Given the description of an element on the screen output the (x, y) to click on. 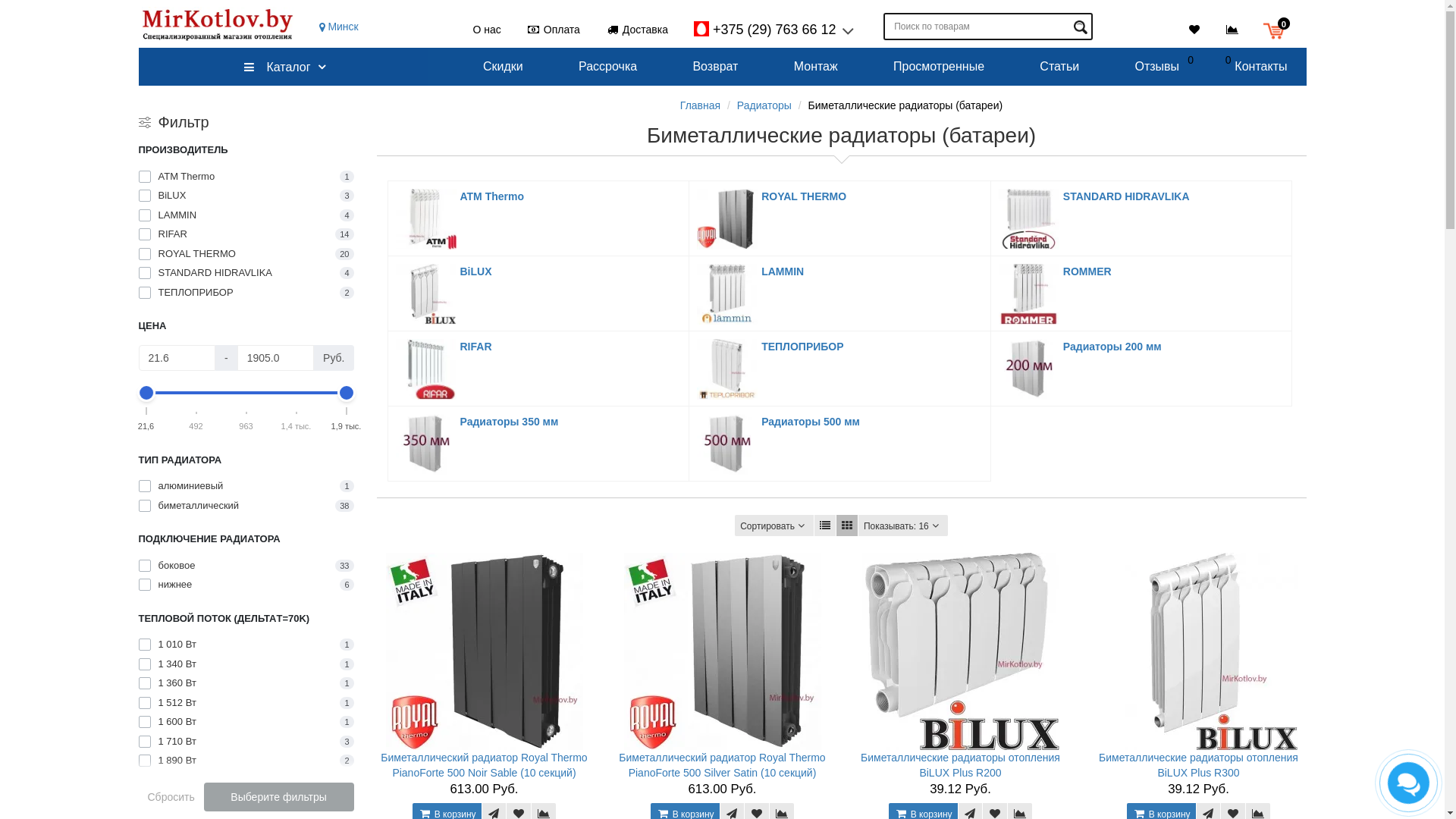
0 Element type: text (1277, 28)
BiLUX
3 Element type: text (245, 195)
BiLUX Element type: hover (425, 293)
0 Element type: text (1198, 28)
0 Element type: text (1236, 28)
RIFAR Element type: text (475, 346)
STANDARD HIDRAVLIKA Element type: hover (1028, 218)
RIFAR
14 Element type: text (245, 233)
STANDARD HIDRAVLIKA Element type: text (1126, 196)
ROMMER Element type: hover (1028, 293)
LAMMIN
4 Element type: text (245, 214)
+375 (29) 763 66 12 Element type: text (772, 28)
ATM Thermo Element type: hover (425, 218)
ROYAL THERMO Element type: text (803, 196)
STANDARD HIDRAVLIKA
4 Element type: text (245, 272)
LAMMIN Element type: text (782, 271)
ATM Thermo Element type: text (491, 196)
ATM Thermo
1 Element type: text (245, 175)
ROMMER Element type: text (1087, 271)
BiLUX Element type: text (475, 271)
ROYAL THERMO Element type: hover (726, 218)
LAMMIN Element type: hover (726, 293)
RIFAR Element type: hover (425, 368)
ROYAL THERMO
20 Element type: text (245, 252)
